Given the description of an element on the screen output the (x, y) to click on. 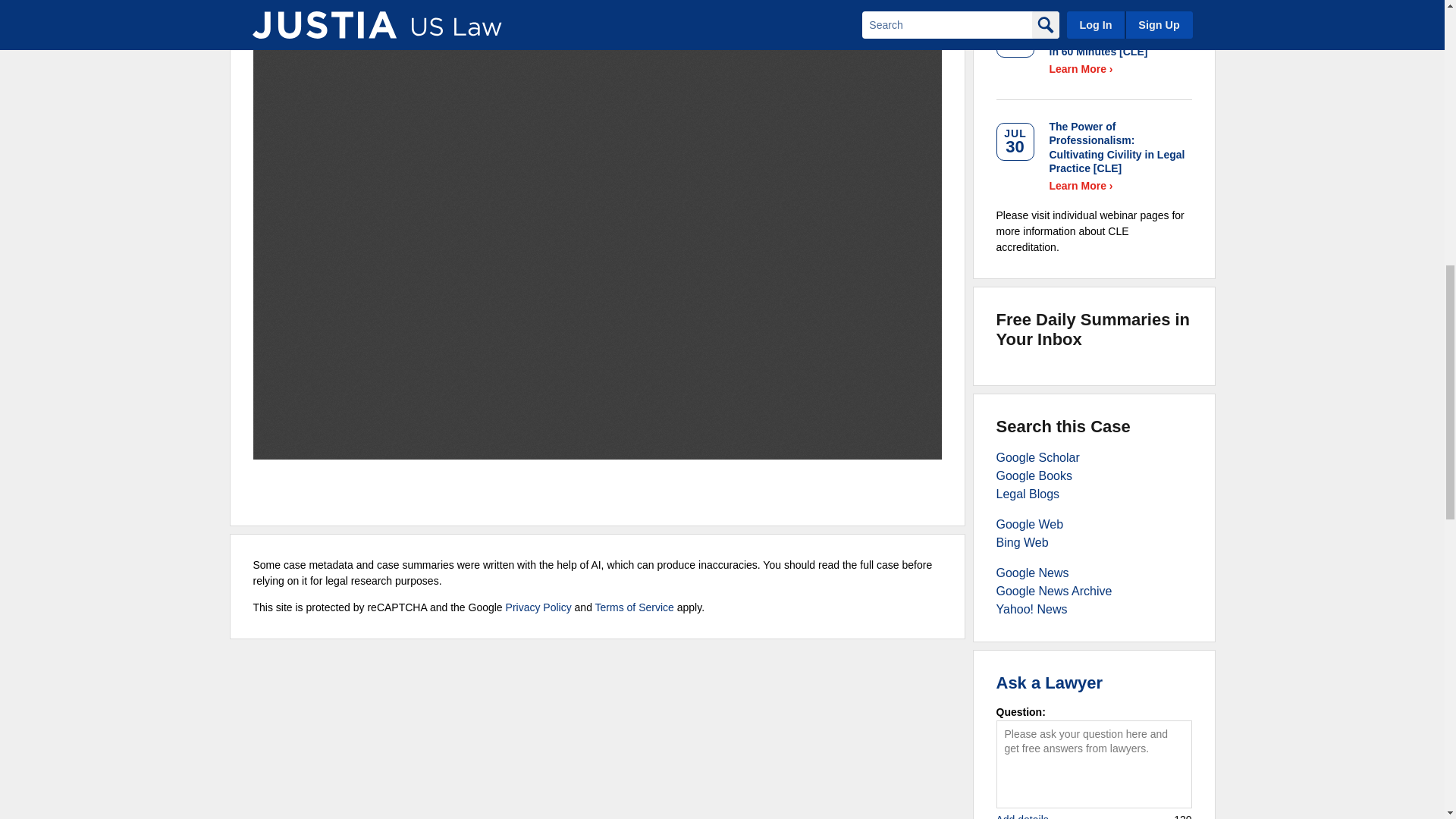
Law - Google Scholar (1037, 457)
Law - Google News (1031, 572)
Law - Google News Archive (1053, 590)
Law - Google Web (1029, 523)
Law - Yahoo! News (1031, 608)
Law - Bing Web (1021, 542)
Law - Google Books (1034, 475)
Law - Legal Blogs (1027, 493)
